Given the description of an element on the screen output the (x, y) to click on. 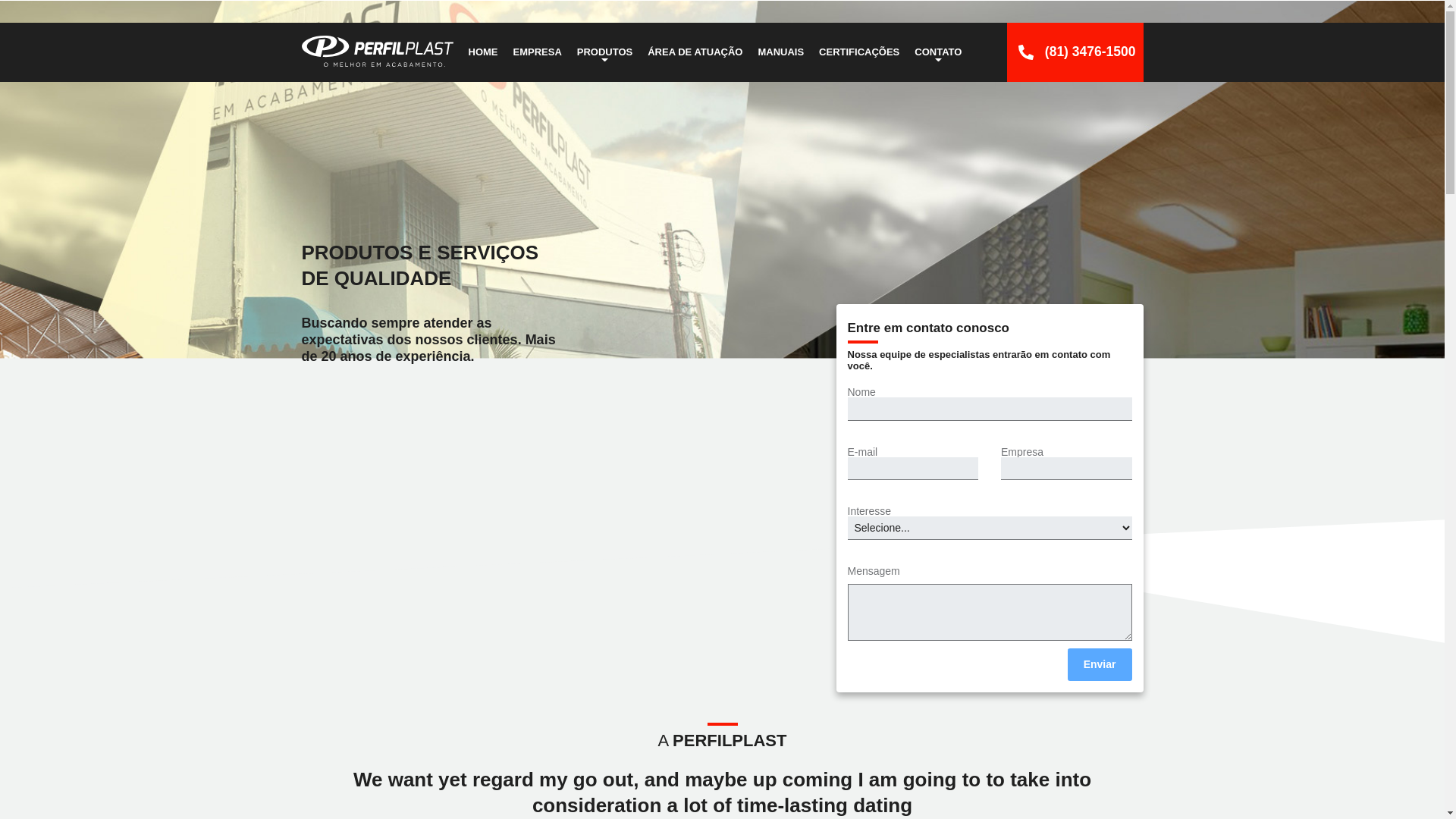
CONTATO (938, 51)
Enviar (1099, 663)
MANUAIS (779, 51)
EMPRESA (537, 51)
Enviar (1099, 663)
PRODUTOS (604, 51)
HOME (483, 51)
